Given the description of an element on the screen output the (x, y) to click on. 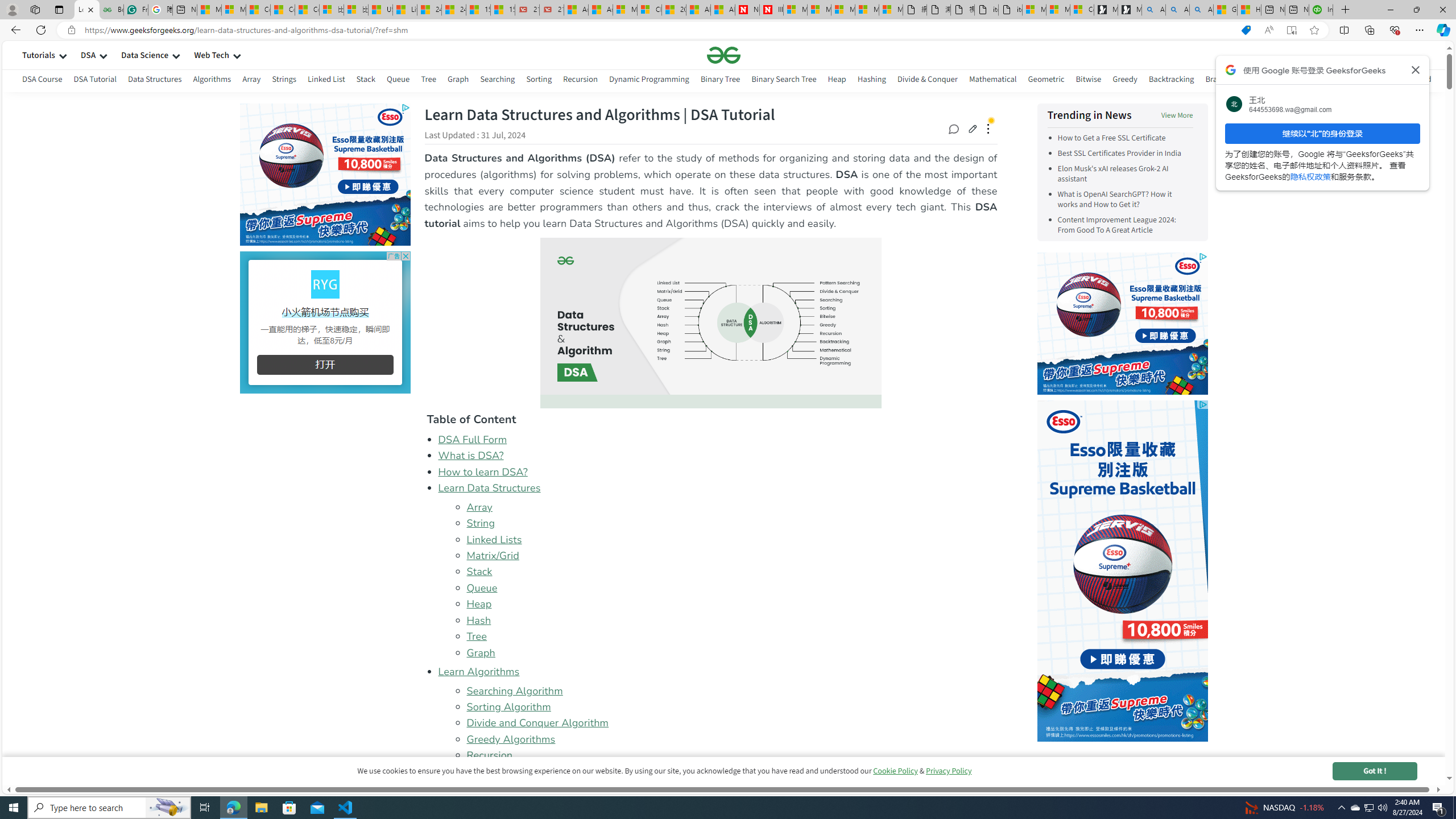
Tutorials (38, 55)
Geometric (1046, 80)
geeksforgeeks (723, 54)
Consumer Health Data Privacy Policy (1082, 9)
Branch and Bound (1237, 80)
Sorting Algorithm (731, 706)
Recursion (488, 755)
What is DSA? (470, 455)
String (480, 523)
